Given the description of an element on the screen output the (x, y) to click on. 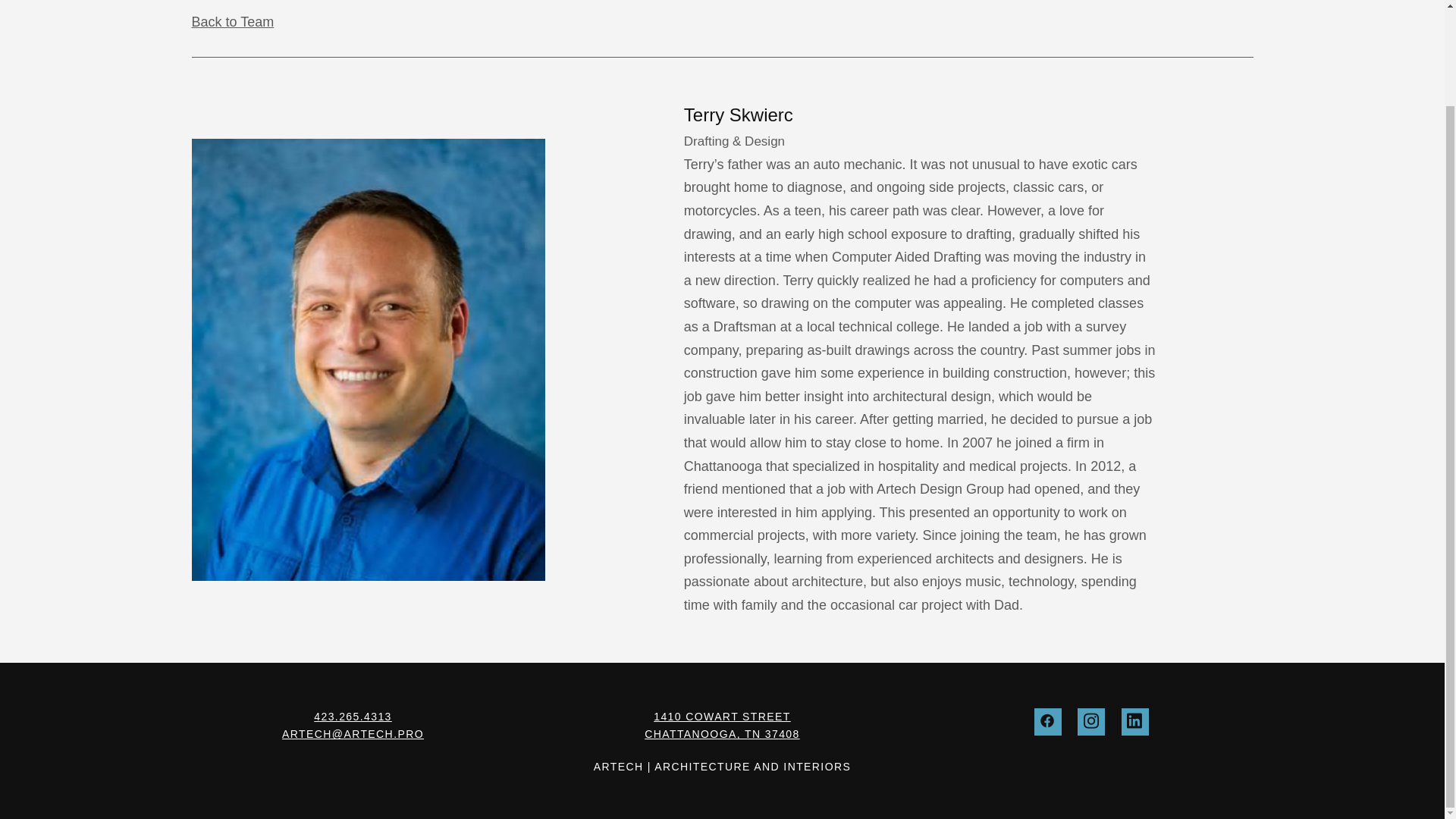
Back to Team (231, 21)
1410 COWART STREET (721, 716)
CHATTANOOGA, TN 37408 (722, 734)
